Given the description of an element on the screen output the (x, y) to click on. 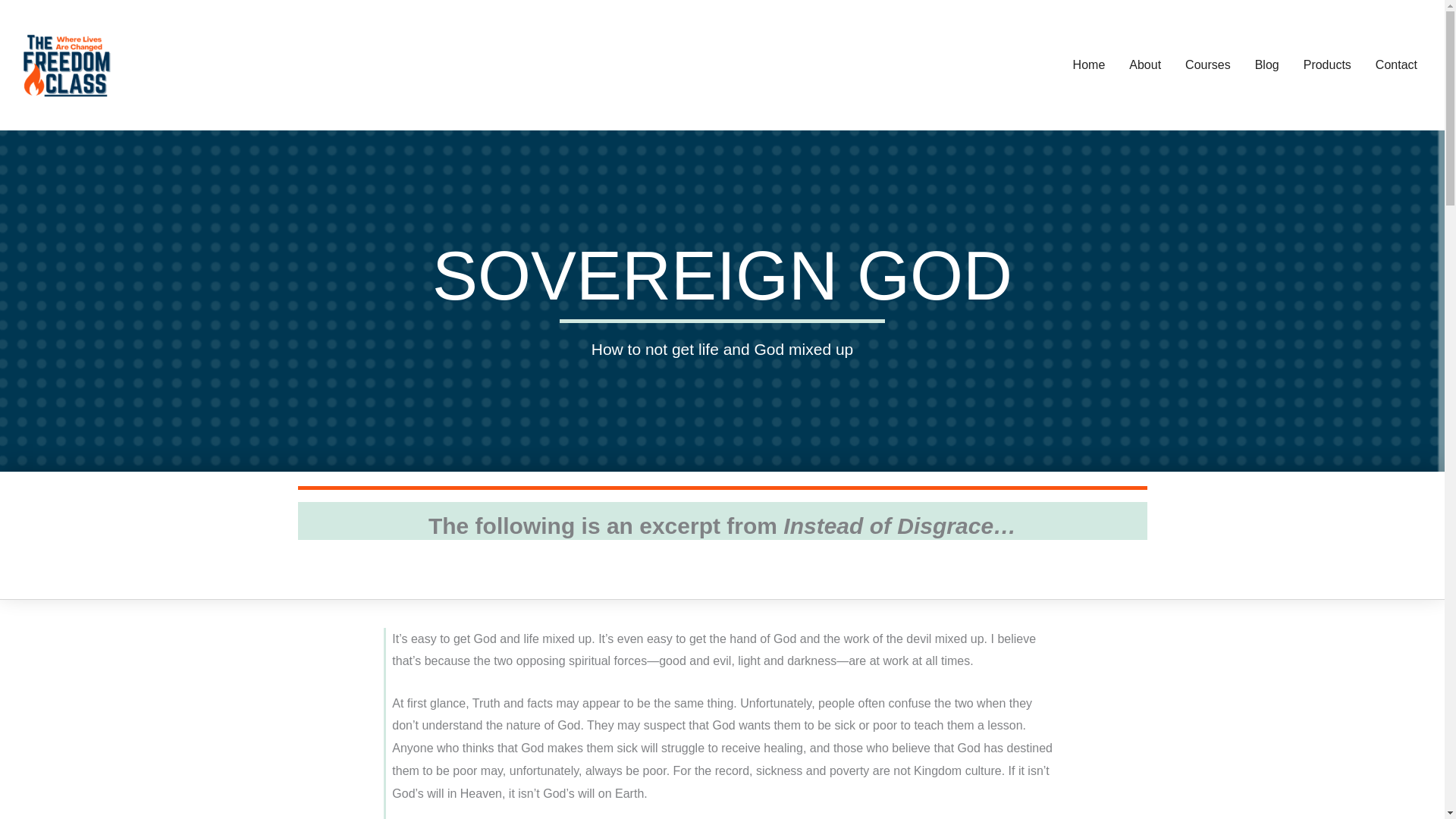
About (1144, 64)
Products (1326, 64)
Courses (1208, 64)
Home (1089, 64)
Contact (1395, 64)
Blog (1267, 64)
